Given the description of an element on the screen output the (x, y) to click on. 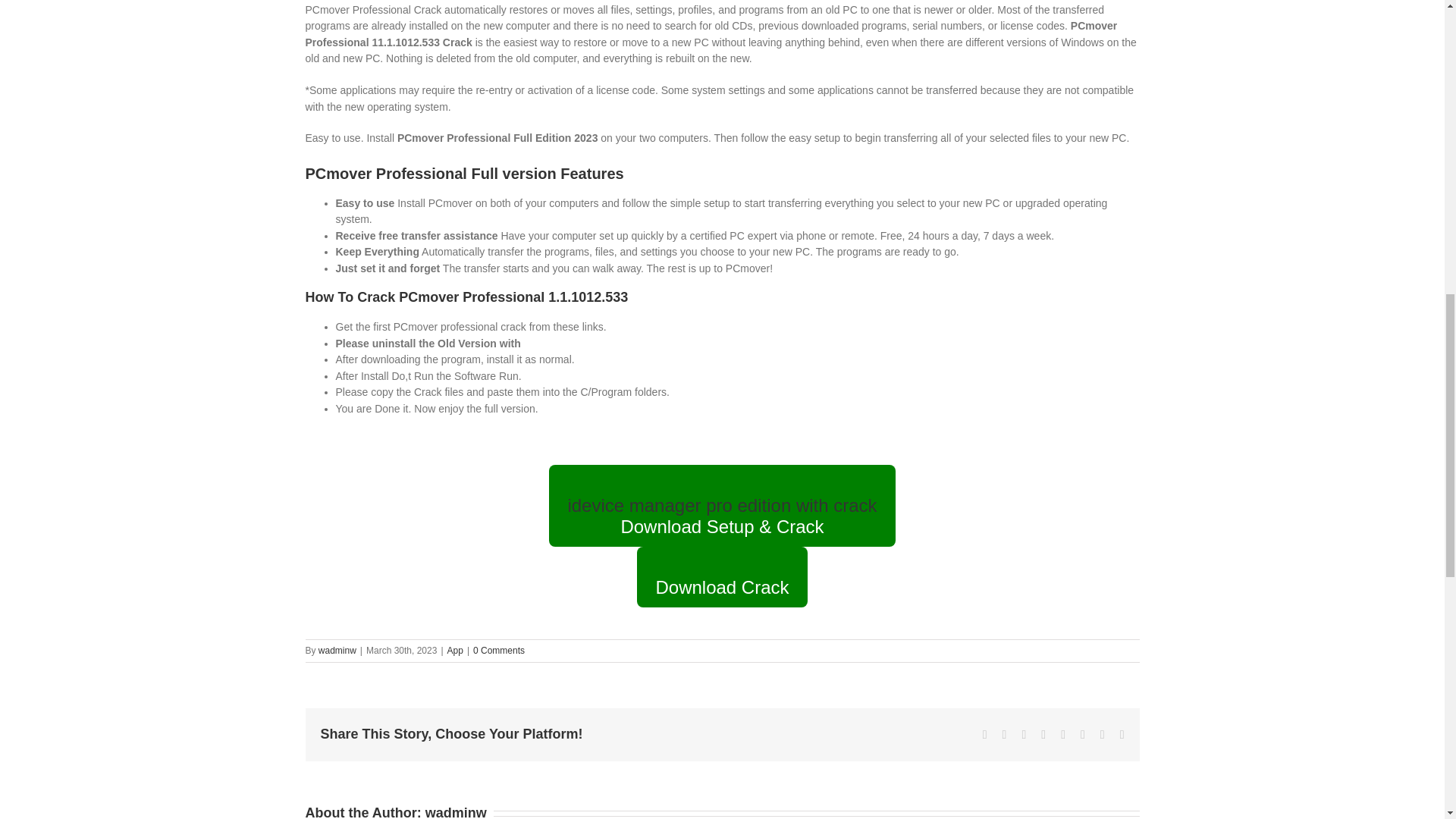
Posts by wadminw (455, 812)
Posts by wadminw (337, 650)
